Given the description of an element on the screen output the (x, y) to click on. 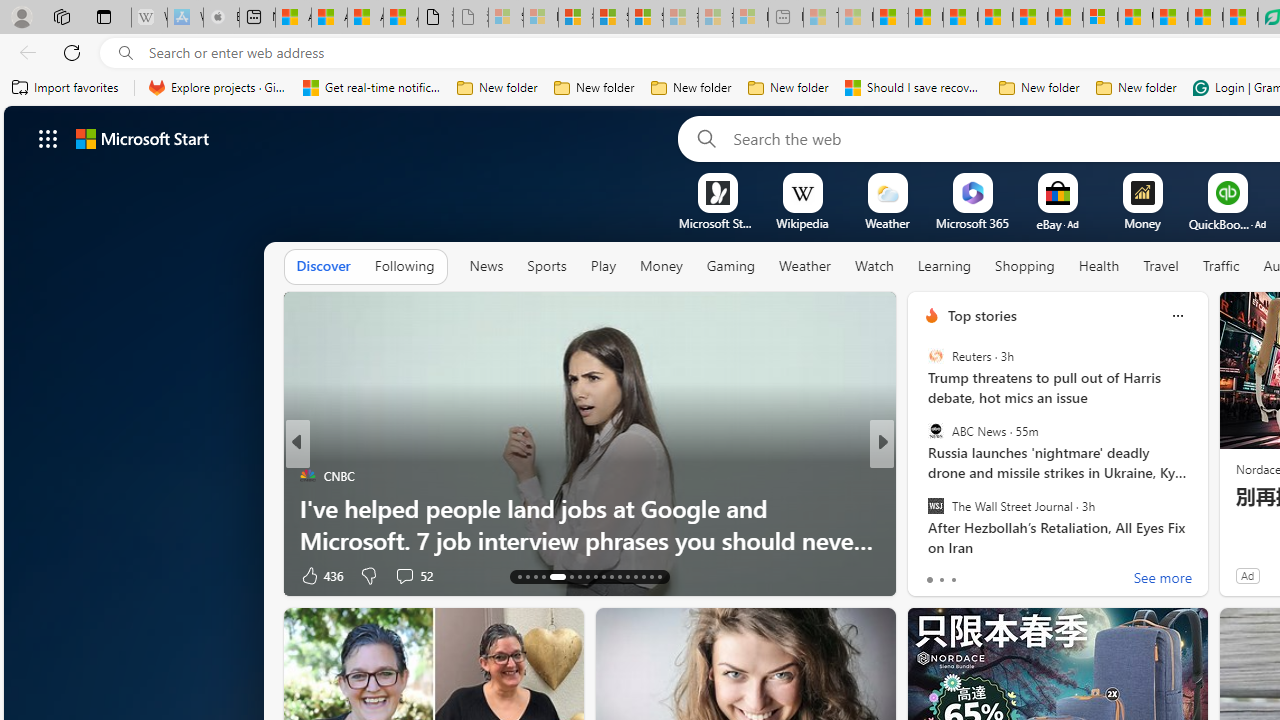
AutomationID: tab-18 (571, 576)
AutomationID: tab-23 (610, 576)
AutomationID: tab-38 (635, 576)
60 Like (934, 574)
